Given the description of an element on the screen output the (x, y) to click on. 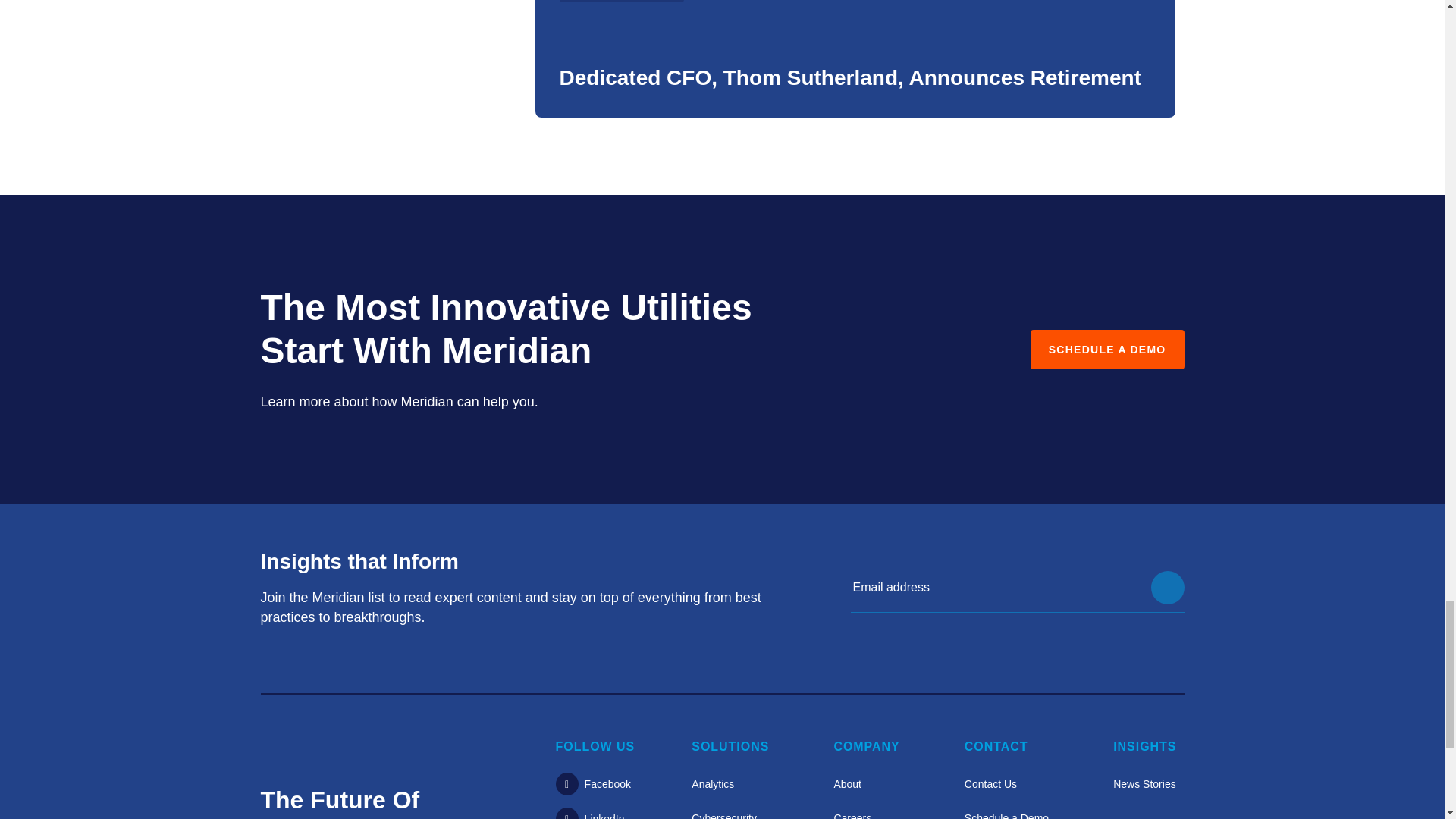
LinkedIn (590, 816)
Sign up (1168, 587)
Sign up (1168, 587)
Dedicated CFO, Thom Sutherland, Announces Retirement (850, 77)
Facebook (593, 784)
SCHEDULE A DEMO (1107, 349)
